Given the description of an element on the screen output the (x, y) to click on. 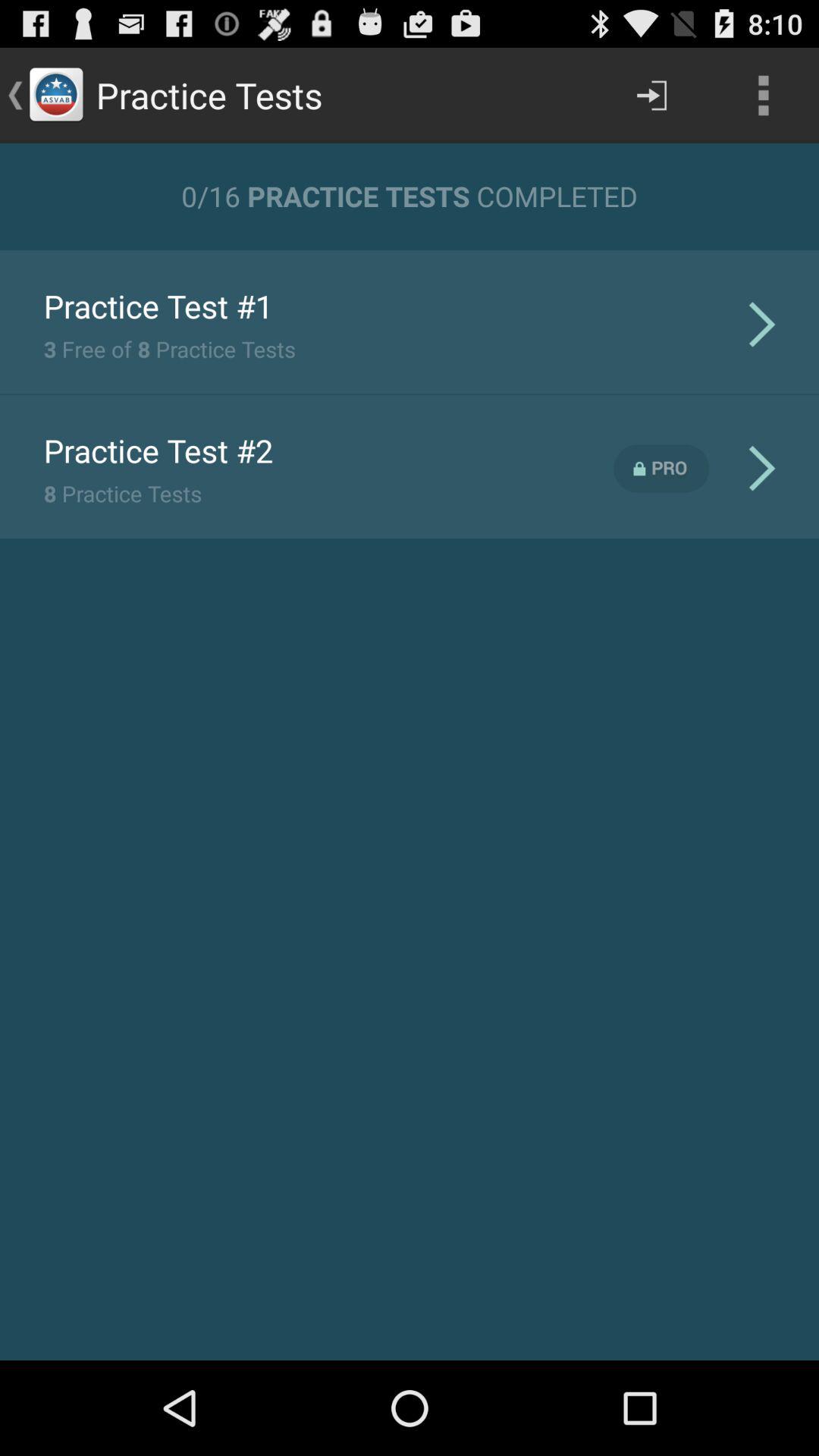
select 0 16 practice icon (409, 195)
